Given the description of an element on the screen output the (x, y) to click on. 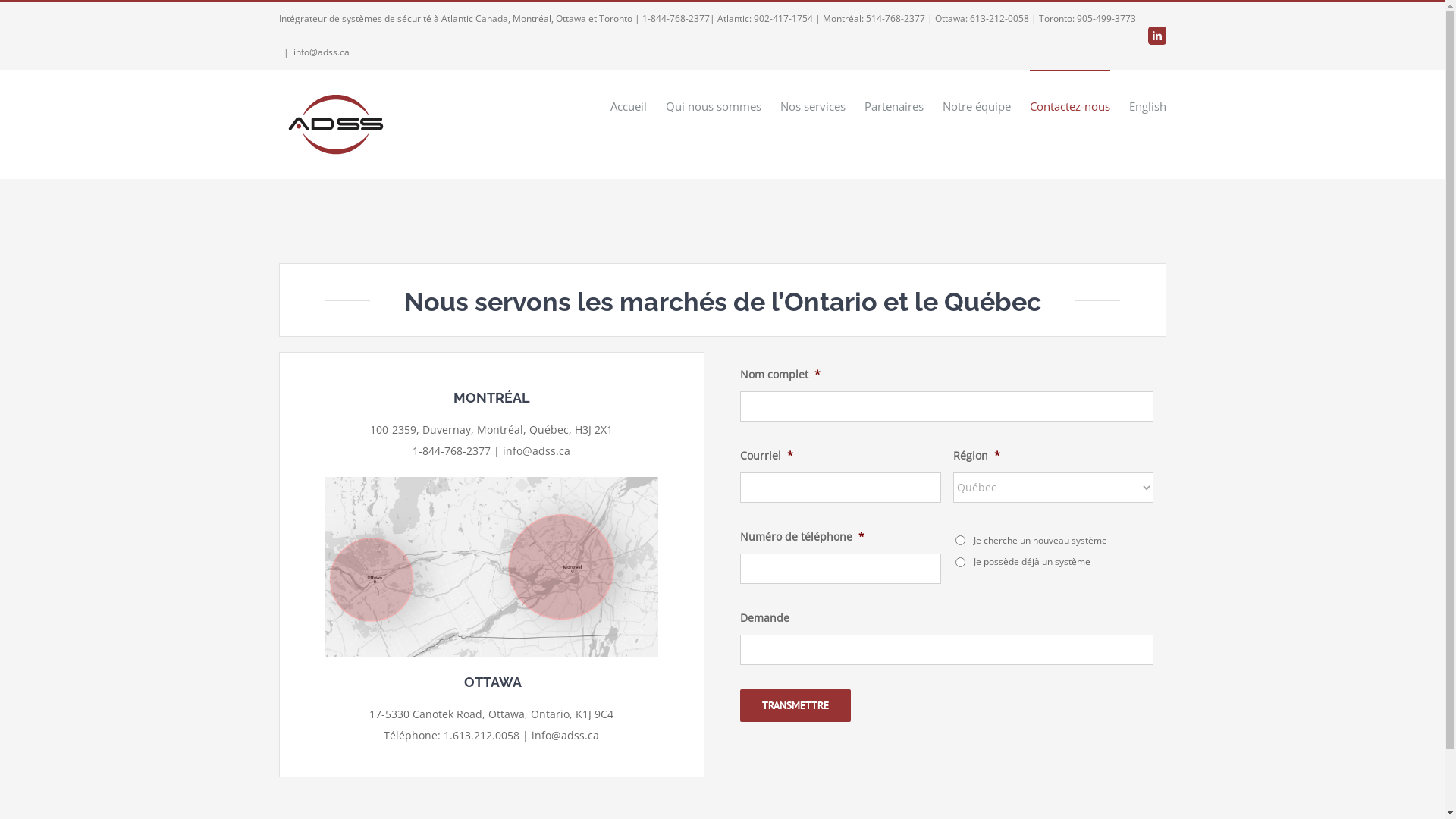
info@adss.ca Element type: text (320, 51)
Accueil Element type: text (627, 105)
Contactez-nous Element type: text (1069, 105)
English Element type: text (1146, 105)
Qui nous sommes Element type: text (713, 105)
Nos services Element type: text (811, 105)
Definite Image Element type: text (551, 780)
Partenaires Element type: text (893, 105)
Linkedin Element type: text (1154, 780)
Linkedin Element type: text (1157, 35)
Transmettre Element type: text (795, 705)
